Given the description of an element on the screen output the (x, y) to click on. 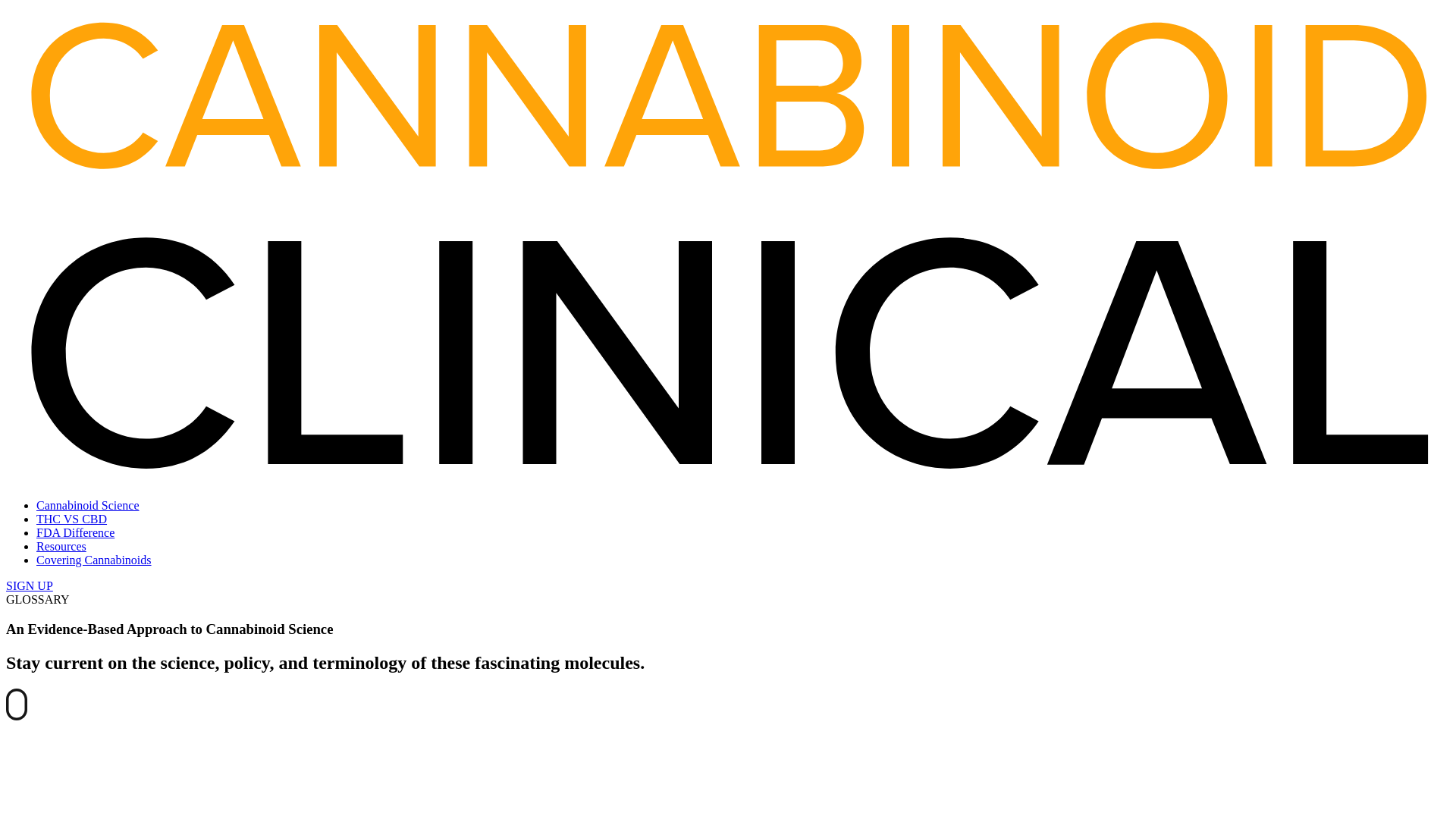
SIGN UP (28, 585)
THC VS CBD (71, 518)
Covering Cannabinoids (93, 559)
GLOSSARY (37, 599)
Resources (60, 545)
Cannabinoid Science (87, 504)
FDA Difference (75, 532)
